Given the description of an element on the screen output the (x, y) to click on. 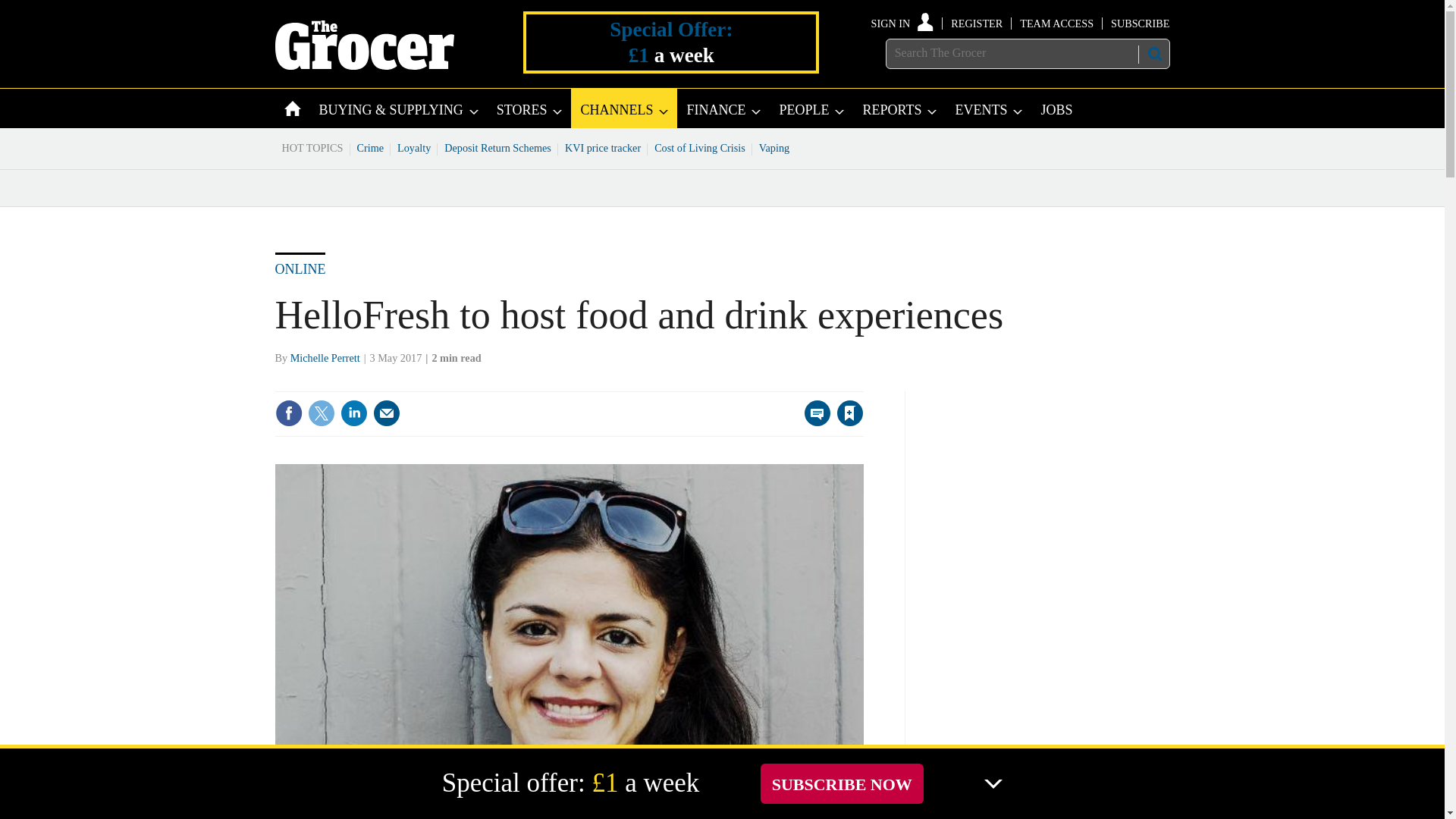
No comments (812, 421)
SUBSCRIBE NOW (841, 783)
TEAM ACCESS (1056, 23)
SEARCH (1153, 53)
Site name (363, 65)
Deposit Return Schemes (497, 147)
REGISTER (976, 23)
SUBSCRIBE (1139, 23)
Share this on Twitter (320, 412)
Loyalty (414, 147)
Vaping (774, 147)
Email this article (386, 412)
Cost of Living Crisis (699, 147)
SIGN IN (902, 23)
Crime (370, 147)
